Given the description of an element on the screen output the (x, y) to click on. 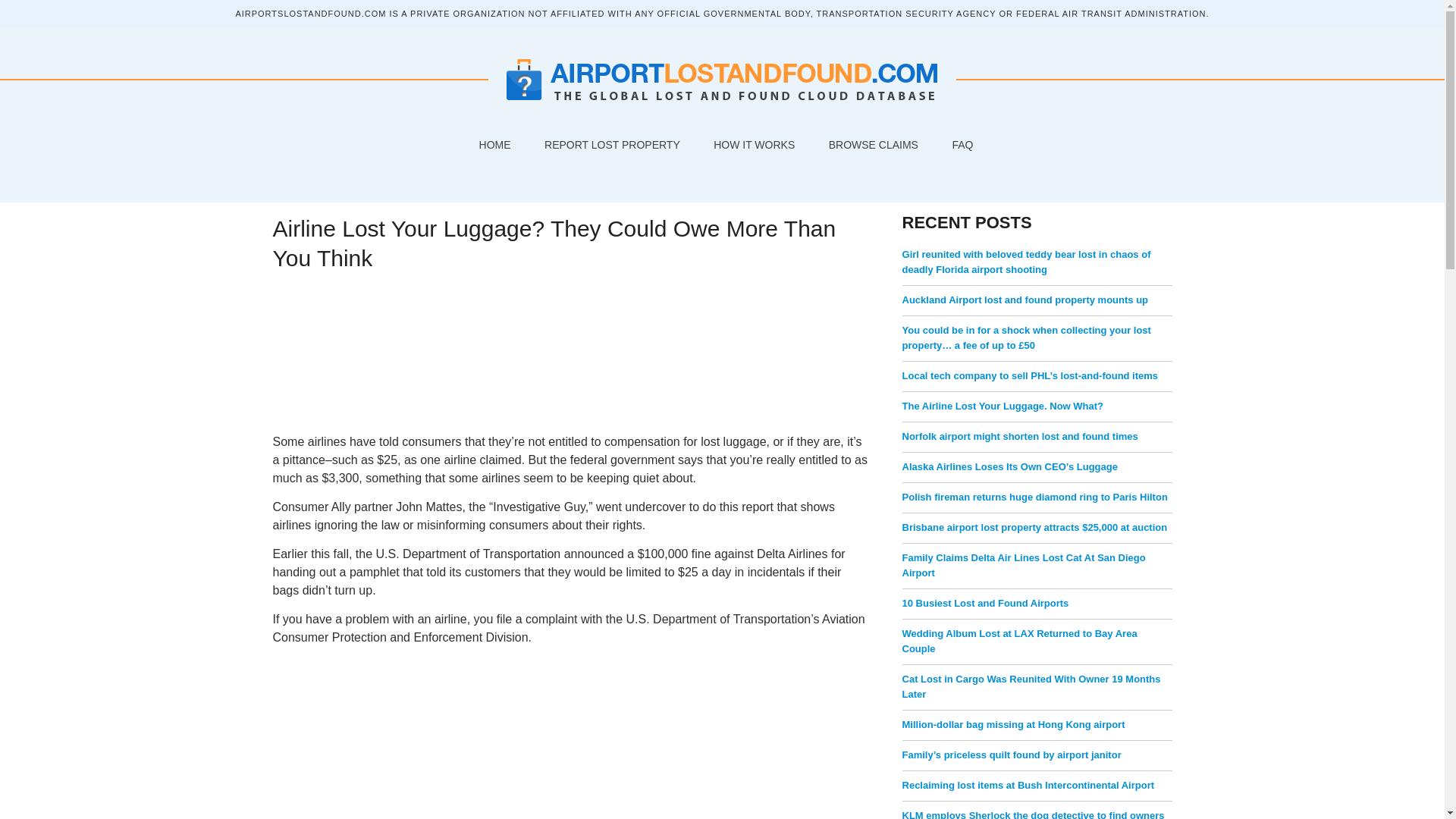
FAQ (957, 144)
Auckland Airport lost and found property mounts up (1025, 299)
Polish fireman returns huge diamond ring to Paris Hilton (1034, 496)
Cat Lost in Cargo Was Reunited With Owner 19 Months Later (1031, 686)
Norfolk airport might shorten lost and found times (1020, 436)
Million-dollar bag missing at Hong Kong airport (1013, 724)
Family Claims Delta Air Lines Lost Cat At San Diego Airport (1023, 565)
HOME (491, 144)
HOW IT WORKS (750, 144)
